Given the description of an element on the screen output the (x, y) to click on. 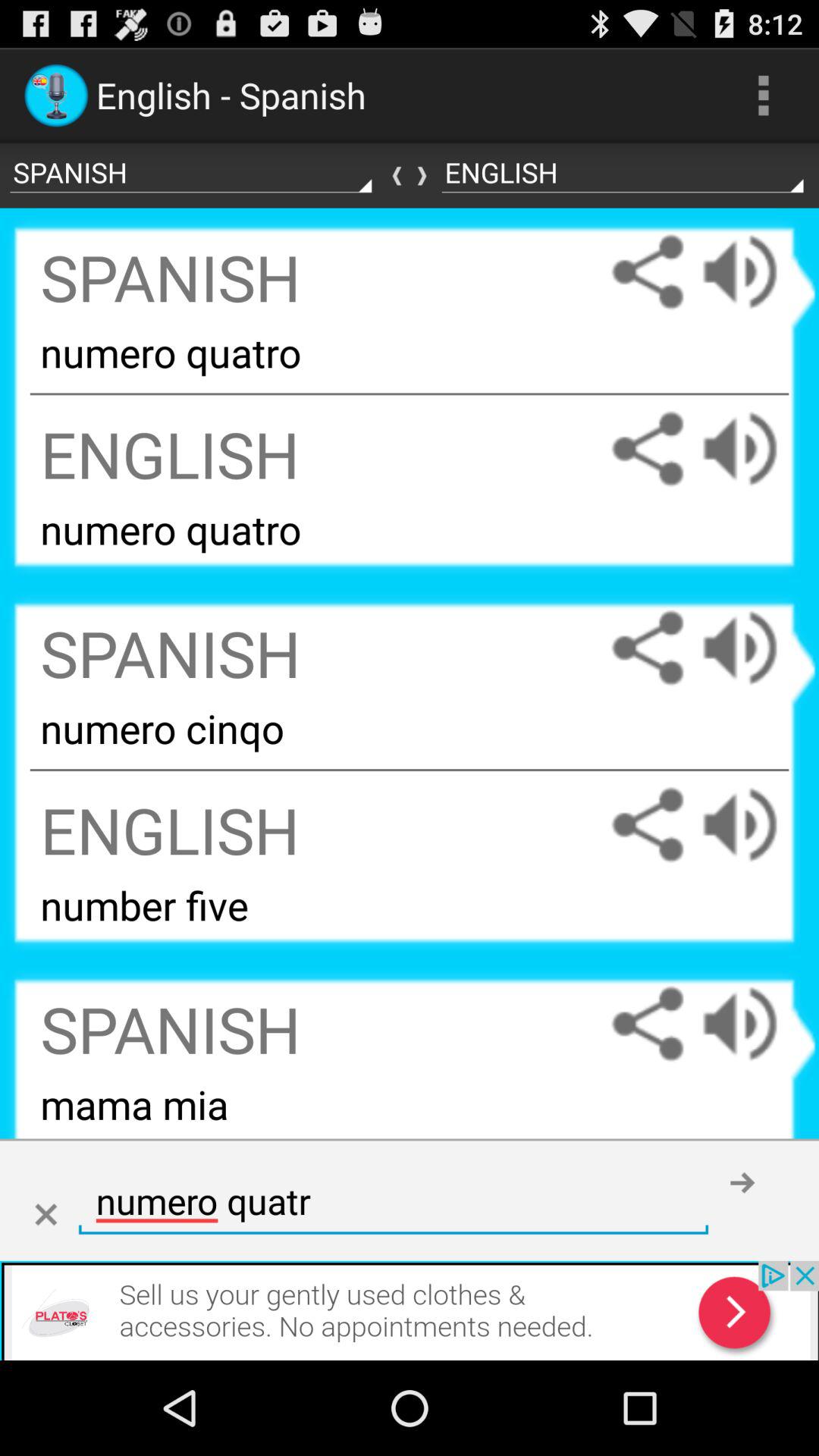
to share (647, 824)
